Given the description of an element on the screen output the (x, y) to click on. 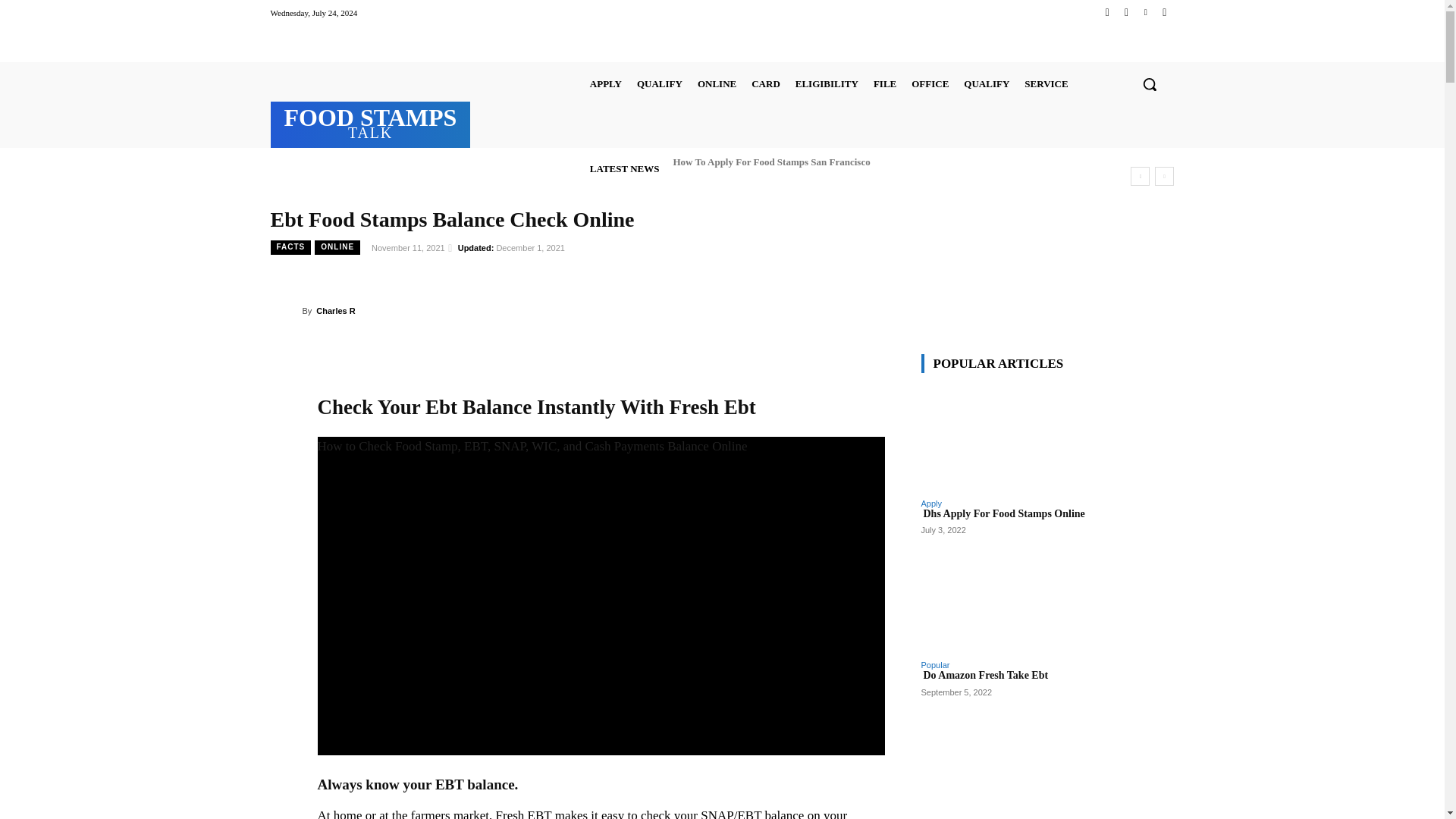
Instagram (1125, 12)
Facebook (1106, 12)
Twitter (1144, 12)
How To Apply For Food Stamps San Francisco (770, 161)
Youtube (1163, 12)
